Given the description of an element on the screen output the (x, y) to click on. 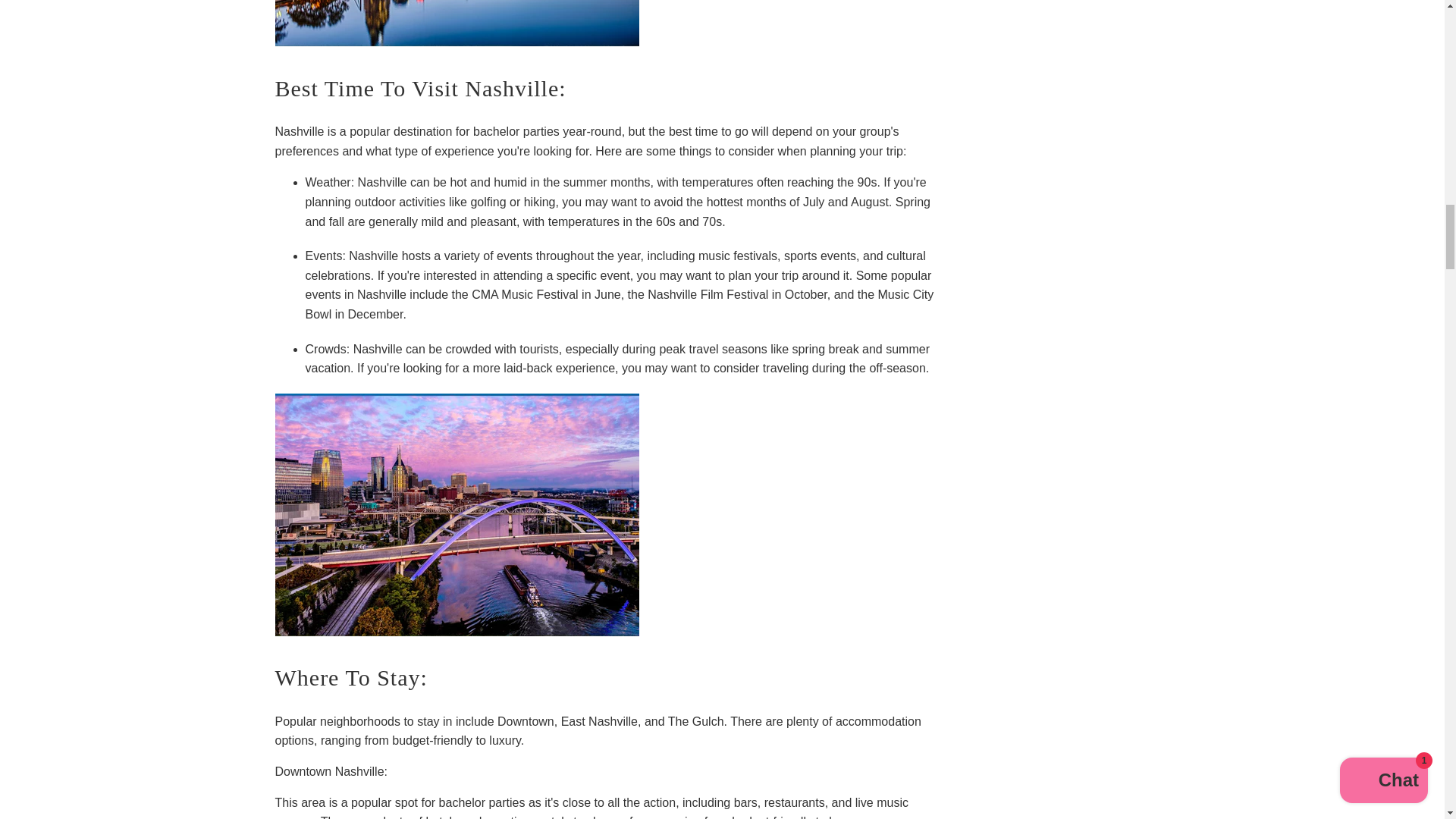
nashville bachelor party ideas (457, 42)
nashville bachelor party ideas (457, 631)
